Given the description of an element on the screen output the (x, y) to click on. 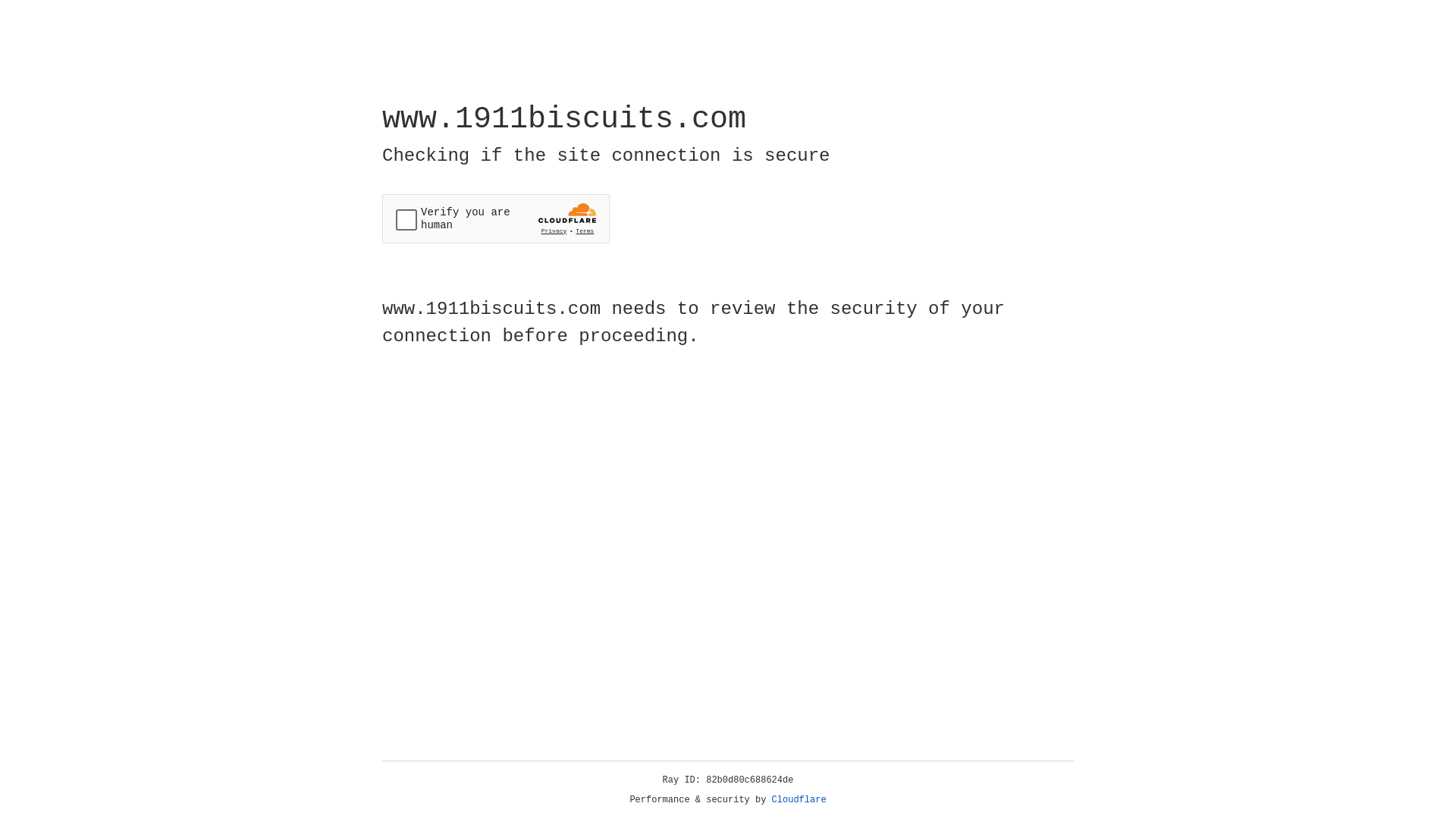
Widget containing a Cloudflare security challenge Element type: hover (495, 218)
Cloudflare Element type: text (798, 799)
